Given the description of an element on the screen output the (x, y) to click on. 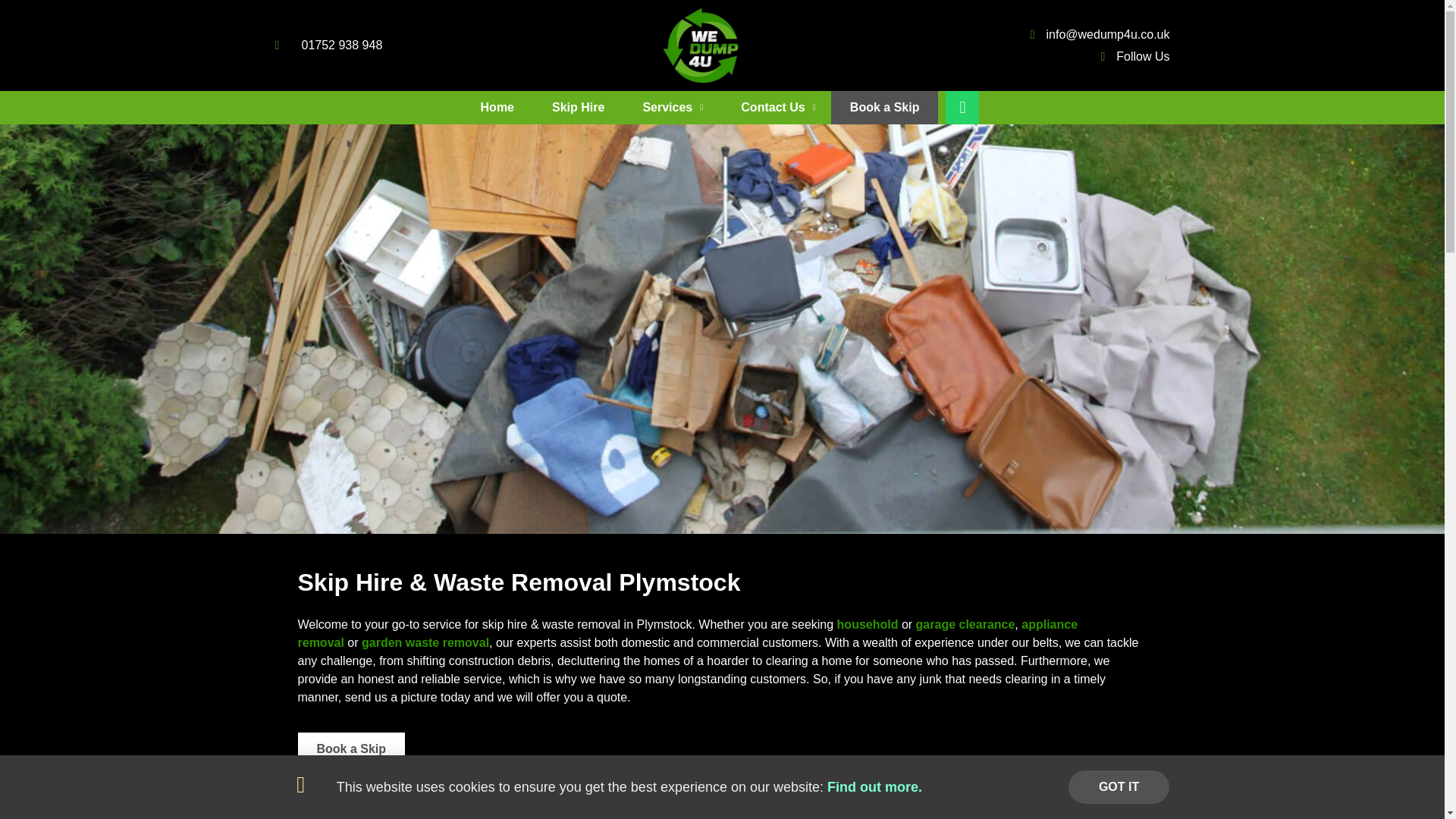
garage clearance (964, 624)
Services (672, 107)
household  (869, 624)
Skip Hire (578, 107)
Home (497, 107)
Follow Us (1094, 55)
01752 938 948 (328, 45)
Contact Us (778, 107)
Book a Skip (885, 107)
